Given the description of an element on the screen output the (x, y) to click on. 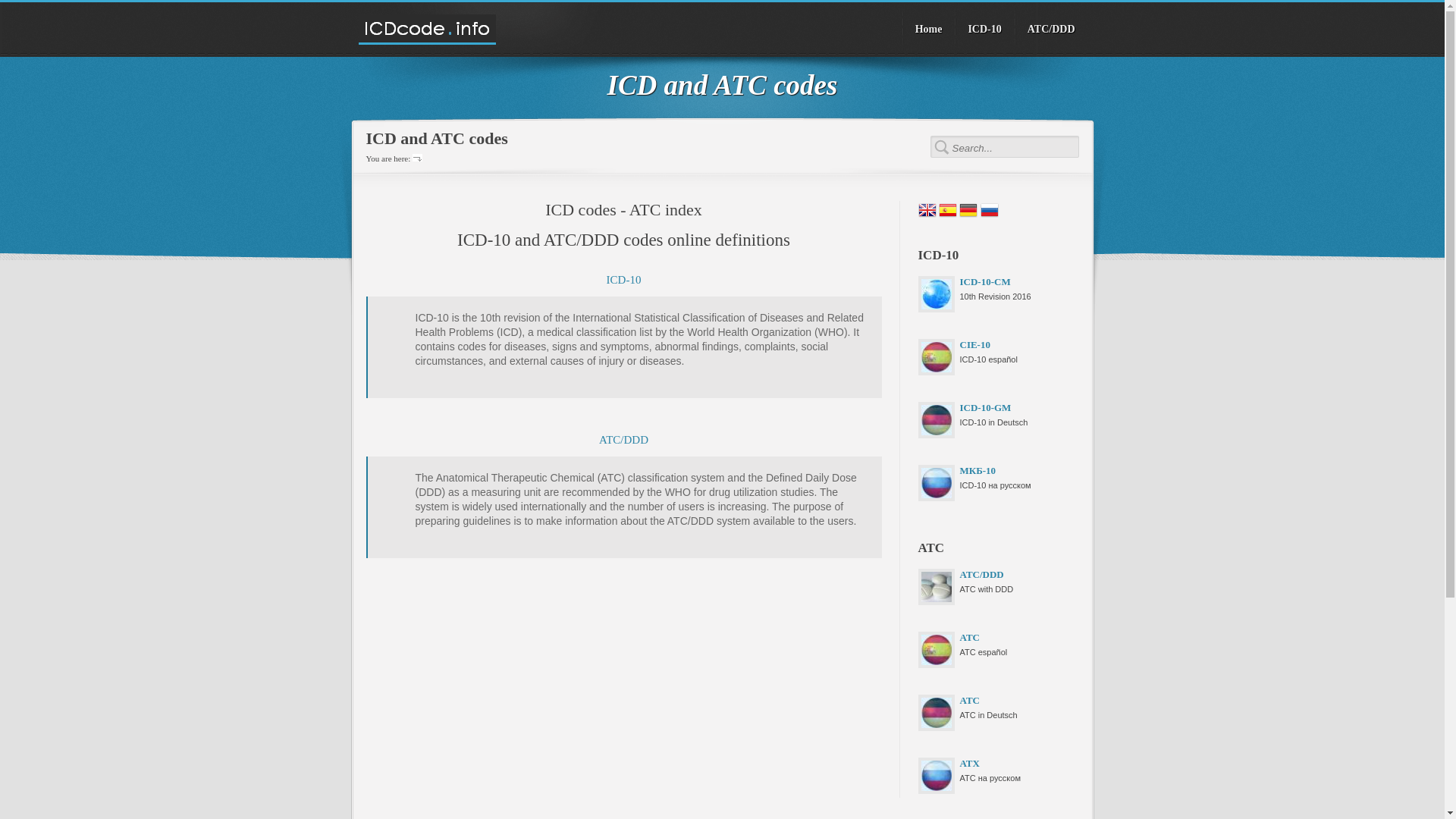
ICD-10 (982, 29)
russian (988, 214)
Home (927, 29)
deutsch (967, 214)
ICD-10 (624, 279)
english (926, 214)
